Given the description of an element on the screen output the (x, y) to click on. 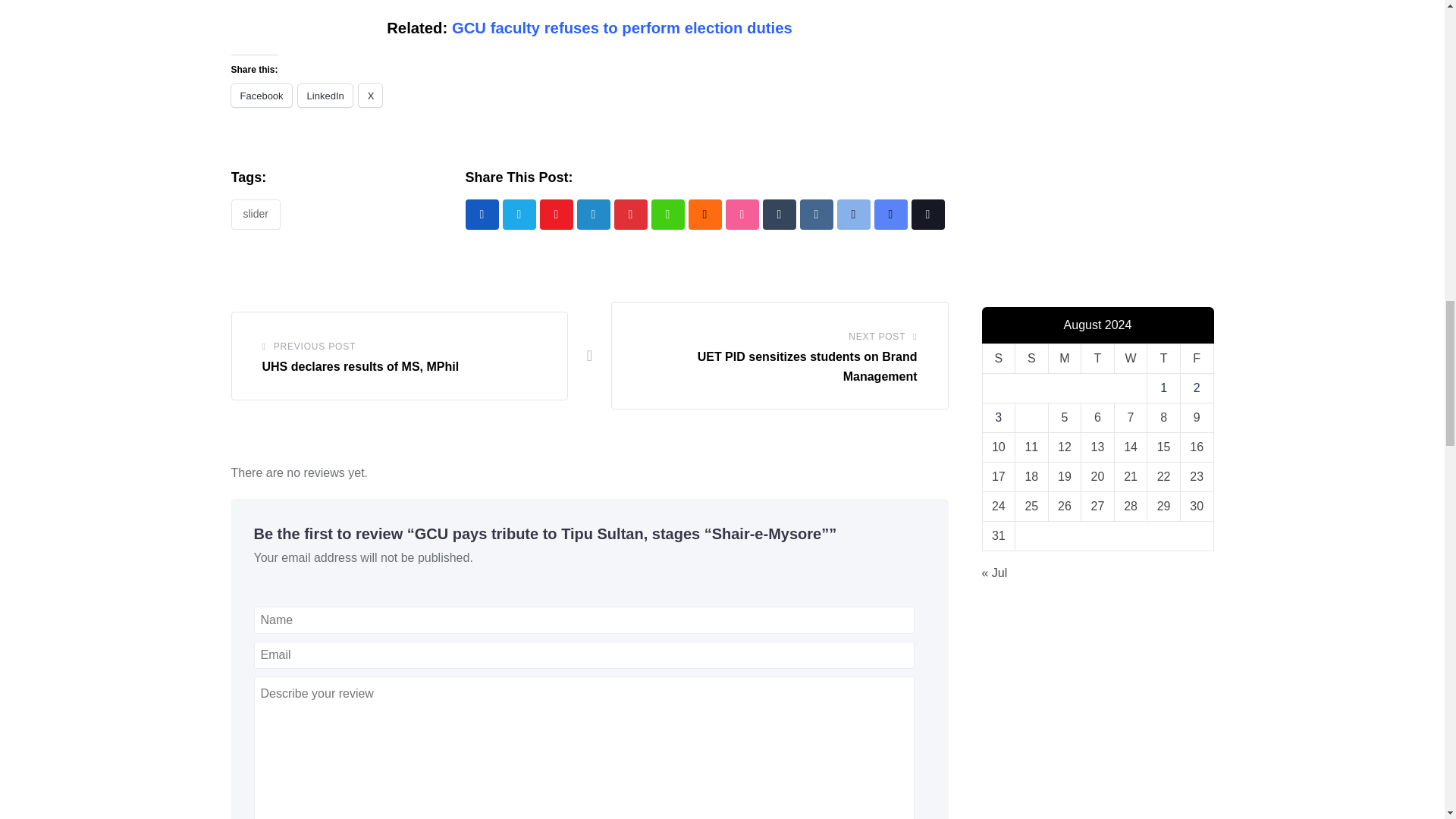
Click to share on X (370, 95)
Click to share on LinkedIn (325, 95)
Click to share on Facebook (260, 95)
